Given the description of an element on the screen output the (x, y) to click on. 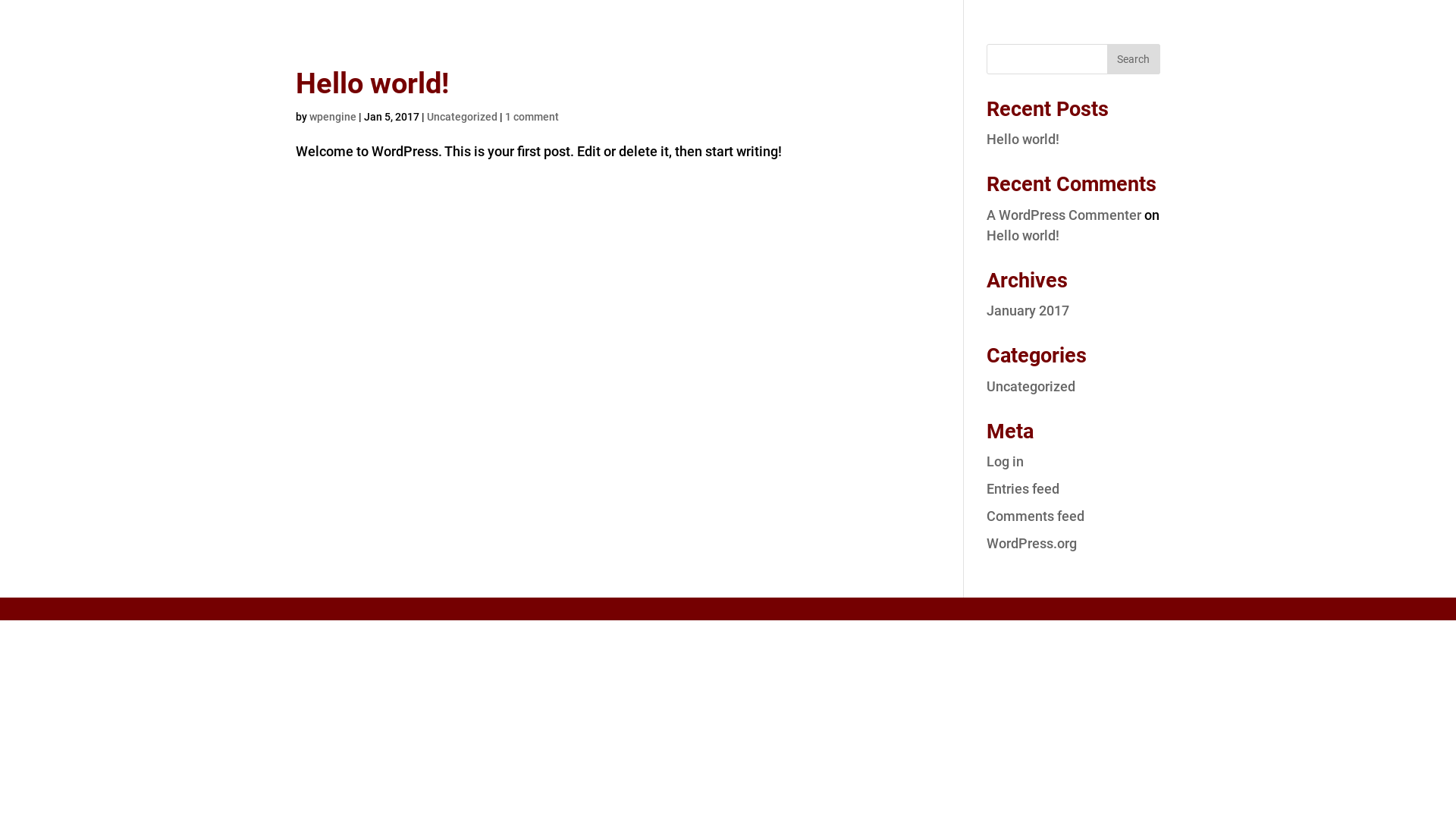
Log in Element type: text (1004, 461)
January 2017 Element type: text (1027, 310)
Hello world! Element type: text (371, 83)
1 comment Element type: text (531, 116)
Uncategorized Element type: text (461, 116)
Entries feed Element type: text (1022, 488)
Uncategorized Element type: text (1030, 386)
Comments feed Element type: text (1035, 516)
Search Element type: text (1133, 58)
wpengine Element type: text (332, 116)
Hello world! Element type: text (1022, 139)
A WordPress Commenter Element type: text (1063, 214)
WordPress.org Element type: text (1031, 543)
Hello world! Element type: text (1022, 235)
